Given the description of an element on the screen output the (x, y) to click on. 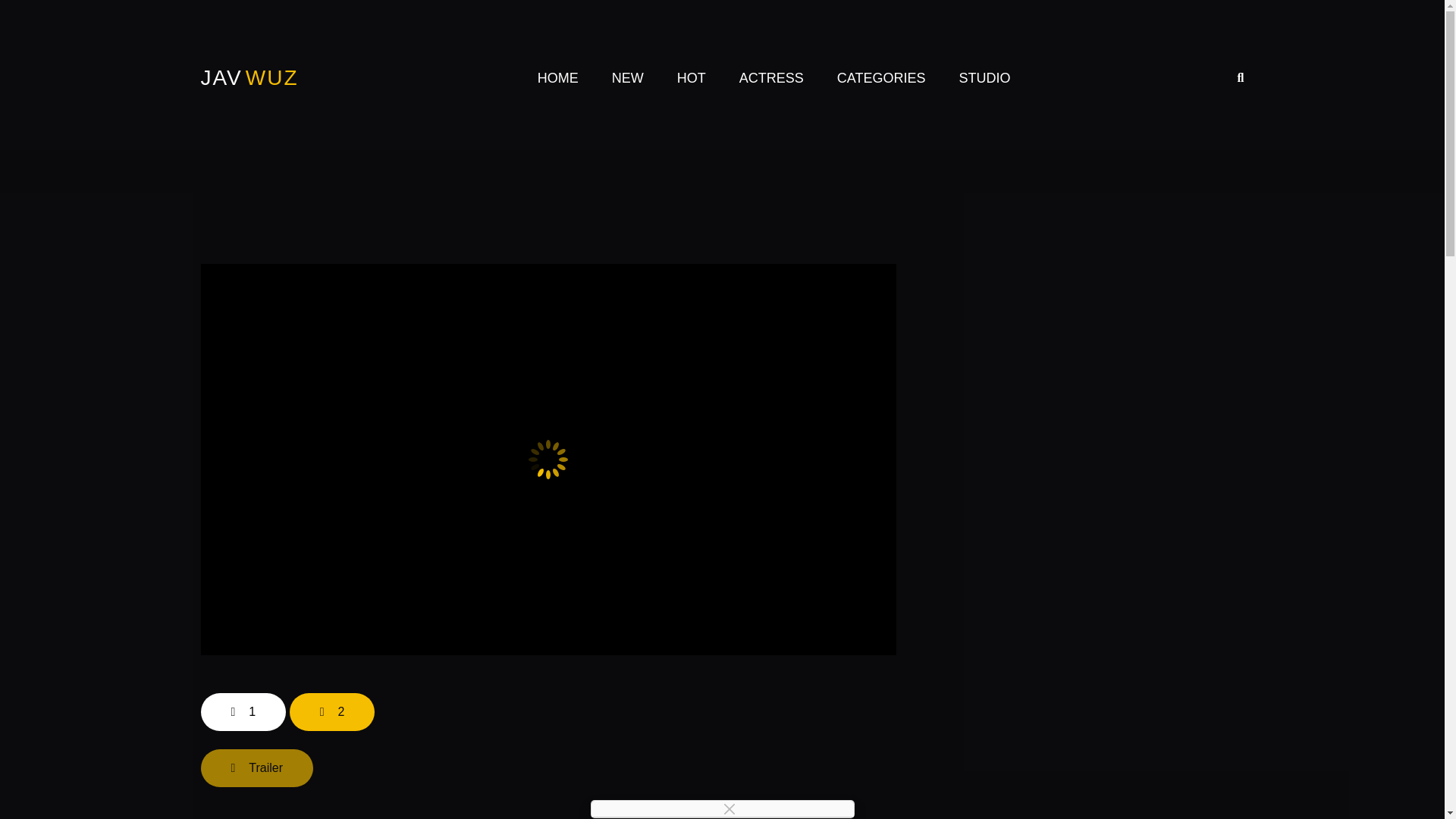
JAVWUZ (249, 77)
ACTRESS (771, 78)
STUDIO (984, 78)
2 (332, 711)
1 (242, 711)
Trailer (256, 768)
CATEGORIES (881, 78)
